Given the description of an element on the screen output the (x, y) to click on. 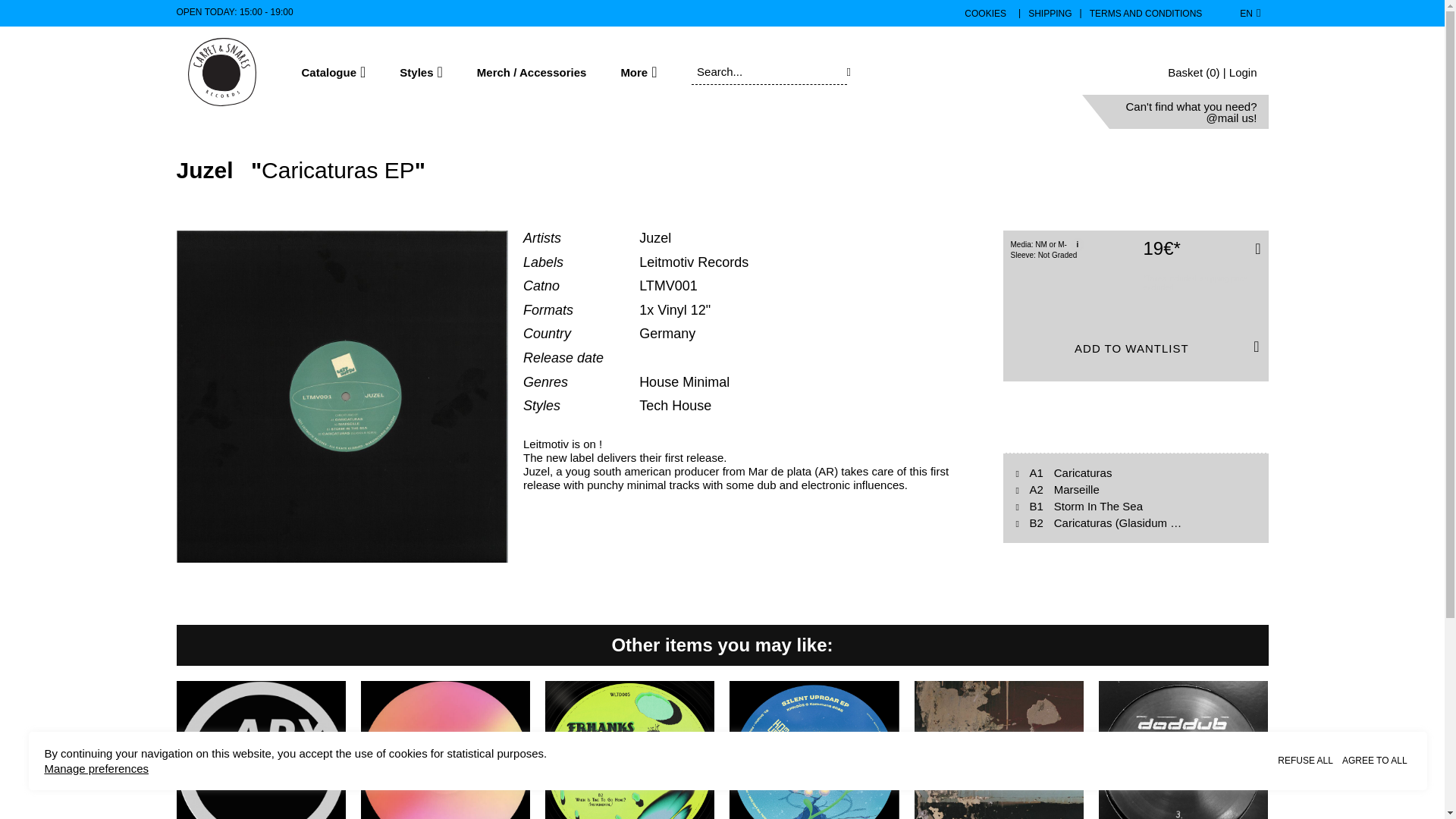
AGREE TO ALL (1375, 760)
Leitmotiv Records (693, 262)
EN (1249, 13)
Juzel (207, 170)
House (660, 381)
More (638, 71)
ADD TO WANTLIST (1135, 348)
Tech House (675, 405)
Minimal (705, 381)
COOKIES (984, 13)
Germany (667, 333)
Login (1242, 71)
SHIPPING (1049, 13)
TERMS AND CONDITIONS (1145, 13)
Catalogue (333, 71)
